Given the description of an element on the screen output the (x, y) to click on. 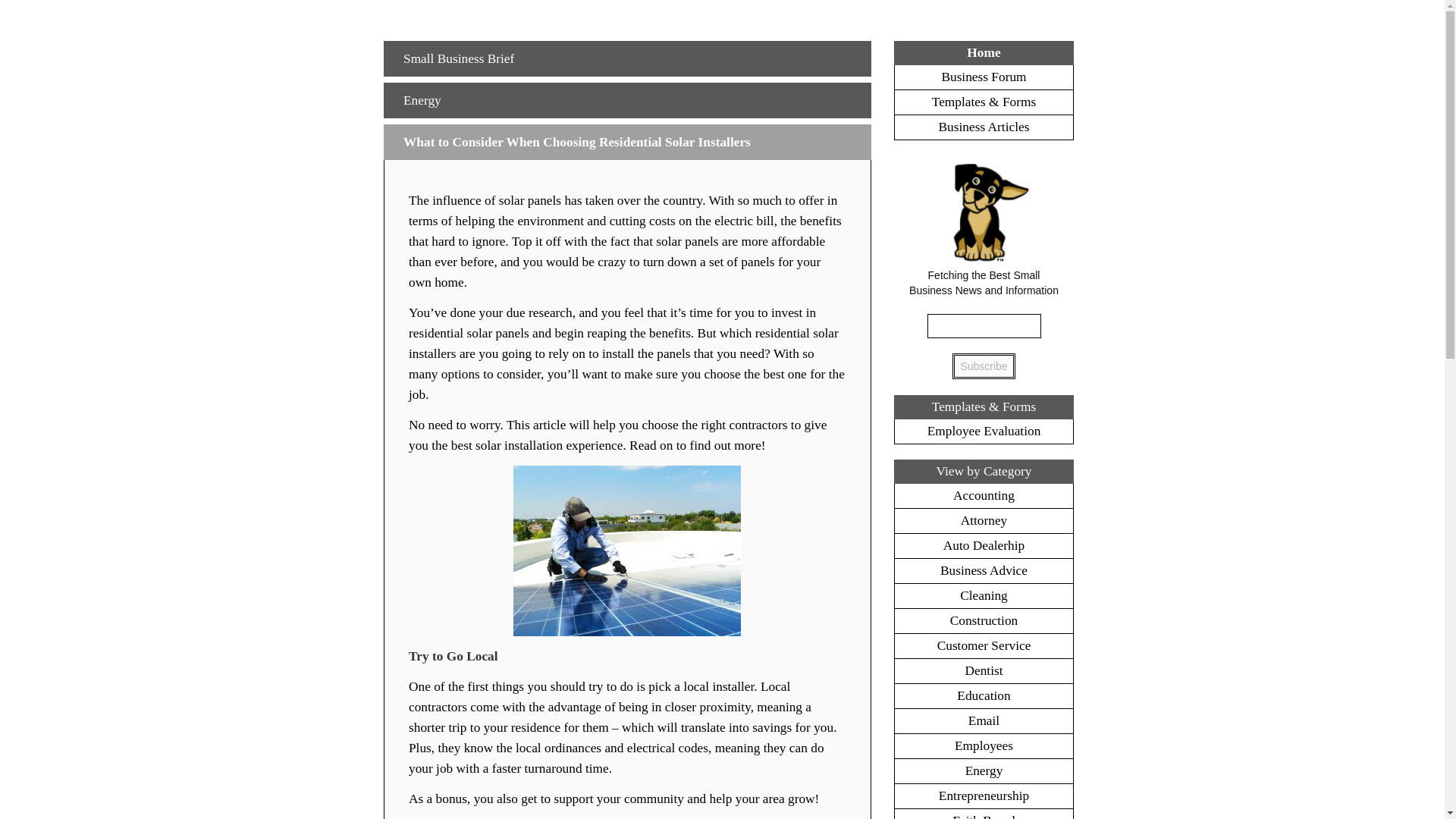
View by Category (983, 471)
Business Articles (984, 126)
Subscribe (983, 365)
Customer Service (983, 645)
Attorney (983, 520)
Employee Evaluation (984, 431)
Home (983, 52)
Business Forum (983, 76)
Energy (422, 100)
Energy (984, 770)
